Given the description of an element on the screen output the (x, y) to click on. 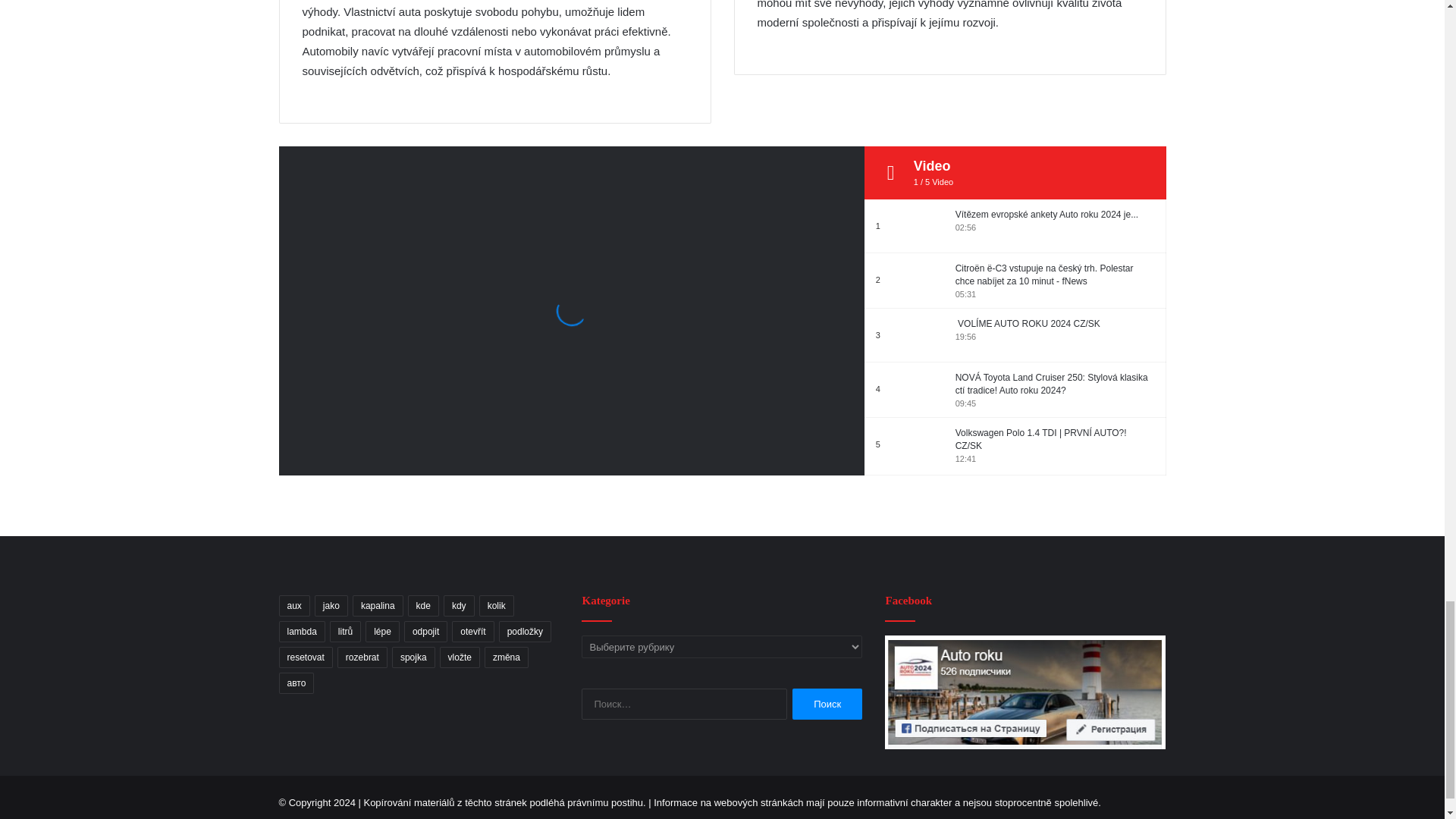
Facebook (1025, 692)
